Given the description of an element on the screen output the (x, y) to click on. 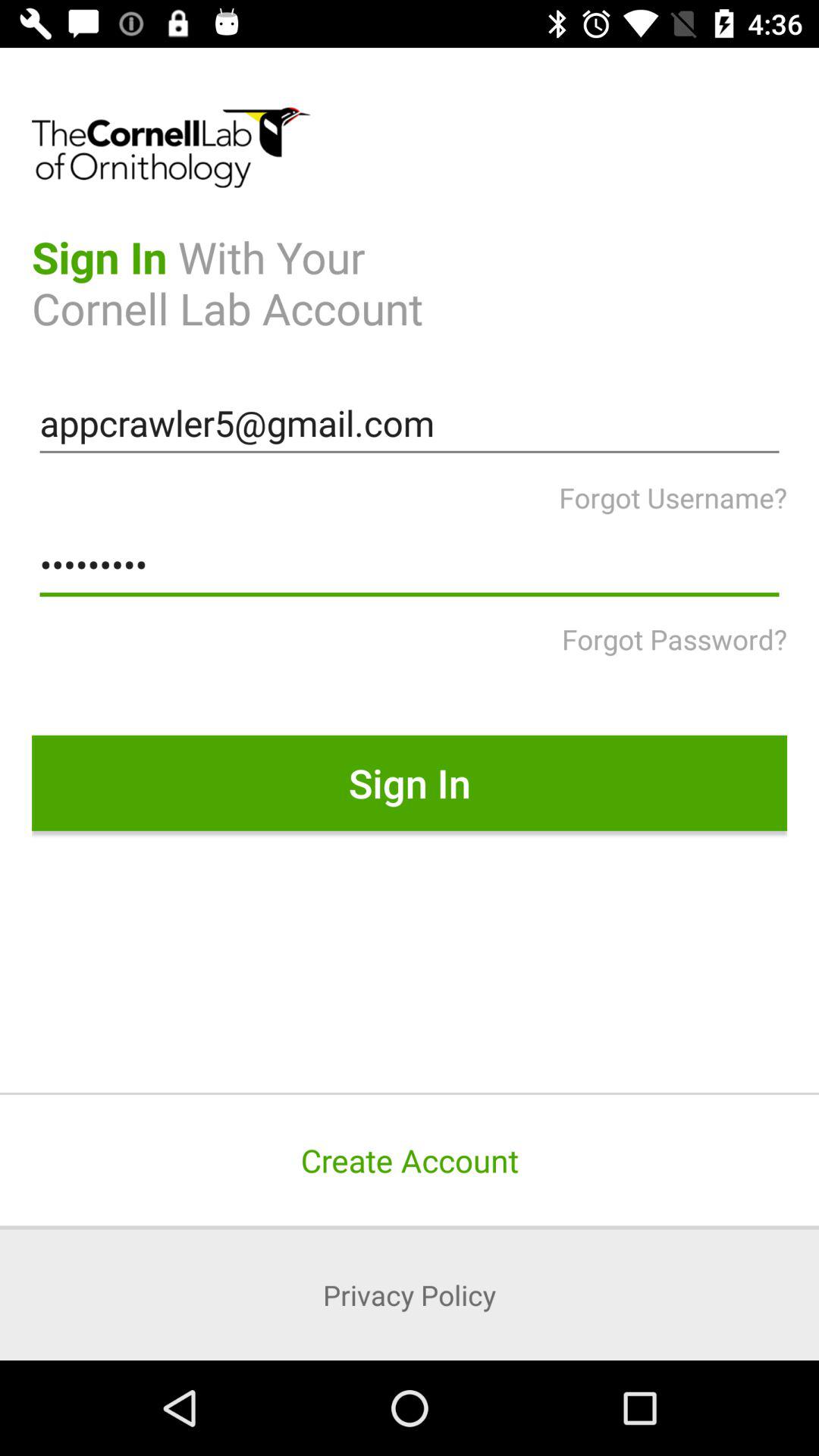
flip until the crowd3116 (409, 565)
